Given the description of an element on the screen output the (x, y) to click on. 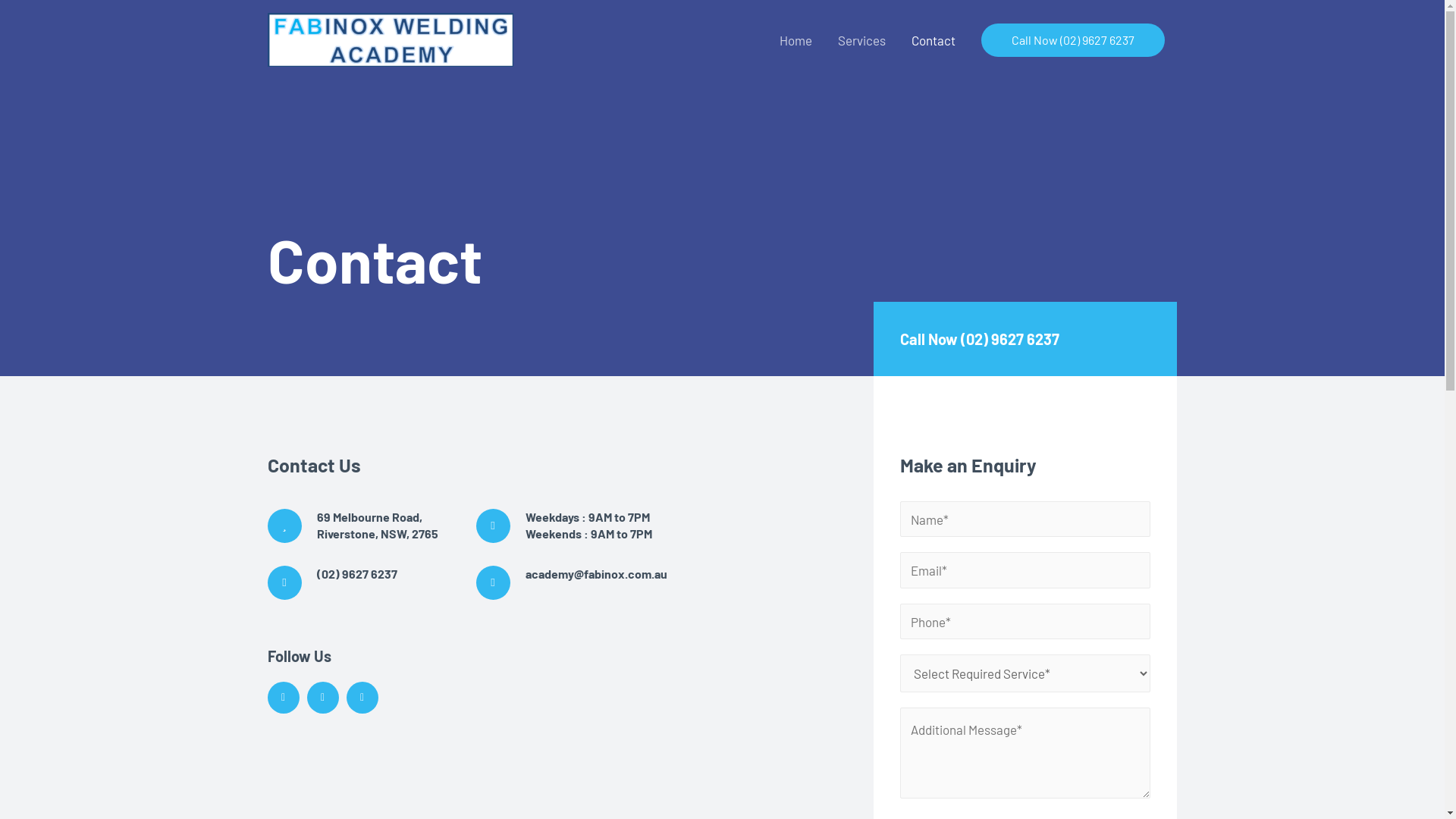
Call Now (02) 9627 6237 Element type: text (1072, 39)
Contact Element type: text (932, 39)
Services Element type: text (861, 39)
(02) 9627 6237 Element type: text (356, 573)
Home Element type: text (794, 39)
Call Now (02) 9627 6237 Element type: text (979, 338)
